Given the description of an element on the screen output the (x, y) to click on. 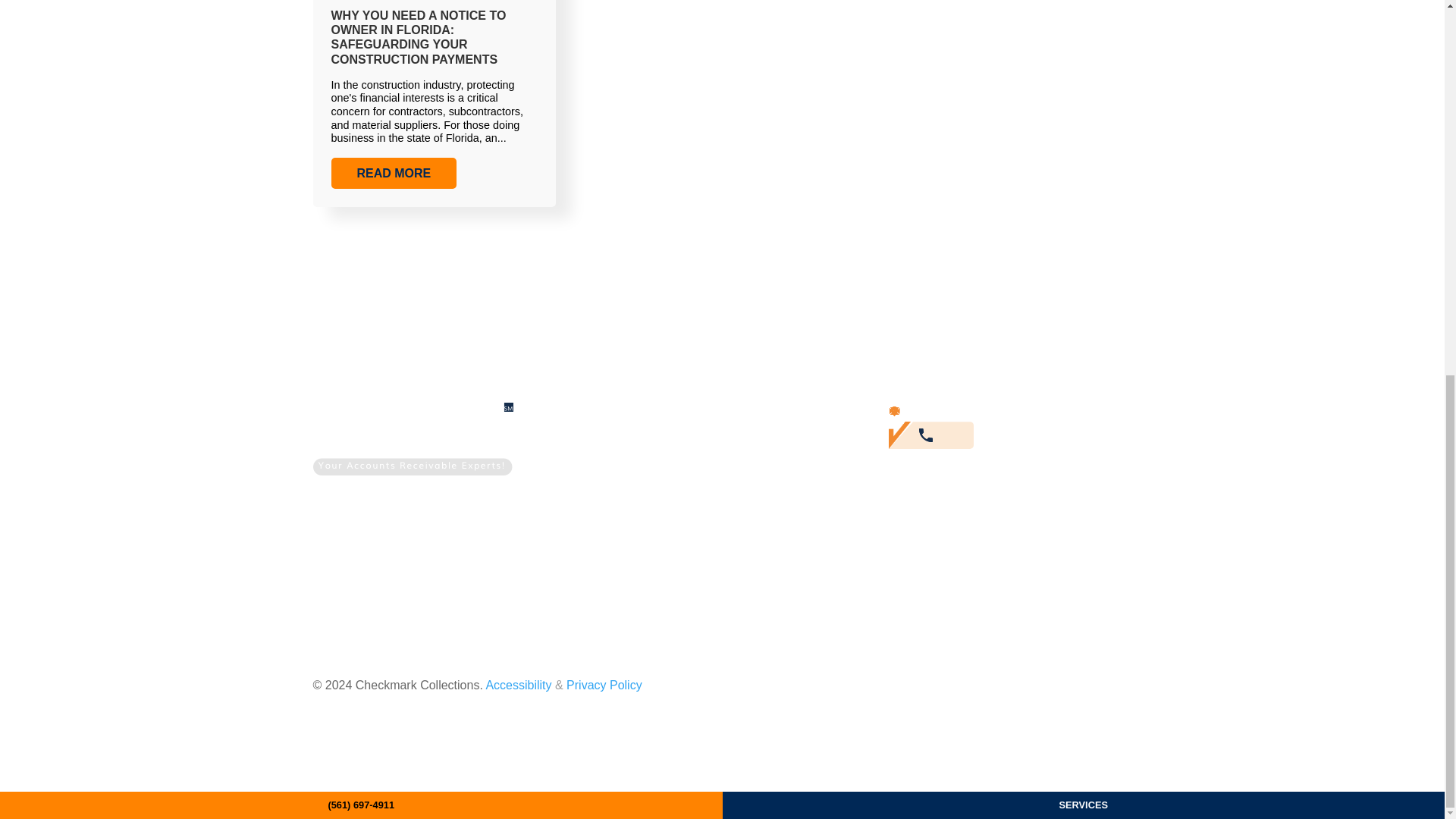
READ MORE (393, 173)
Services (622, 471)
Accessibility (517, 684)
Follow on LinkedIn (1088, 686)
Blog (611, 451)
Privacy Policy (604, 684)
Home (616, 411)
About (615, 431)
Follow on Twitter (1118, 686)
Franchising (631, 490)
Checkmark Collections Logo (412, 438)
